Given the description of an element on the screen output the (x, y) to click on. 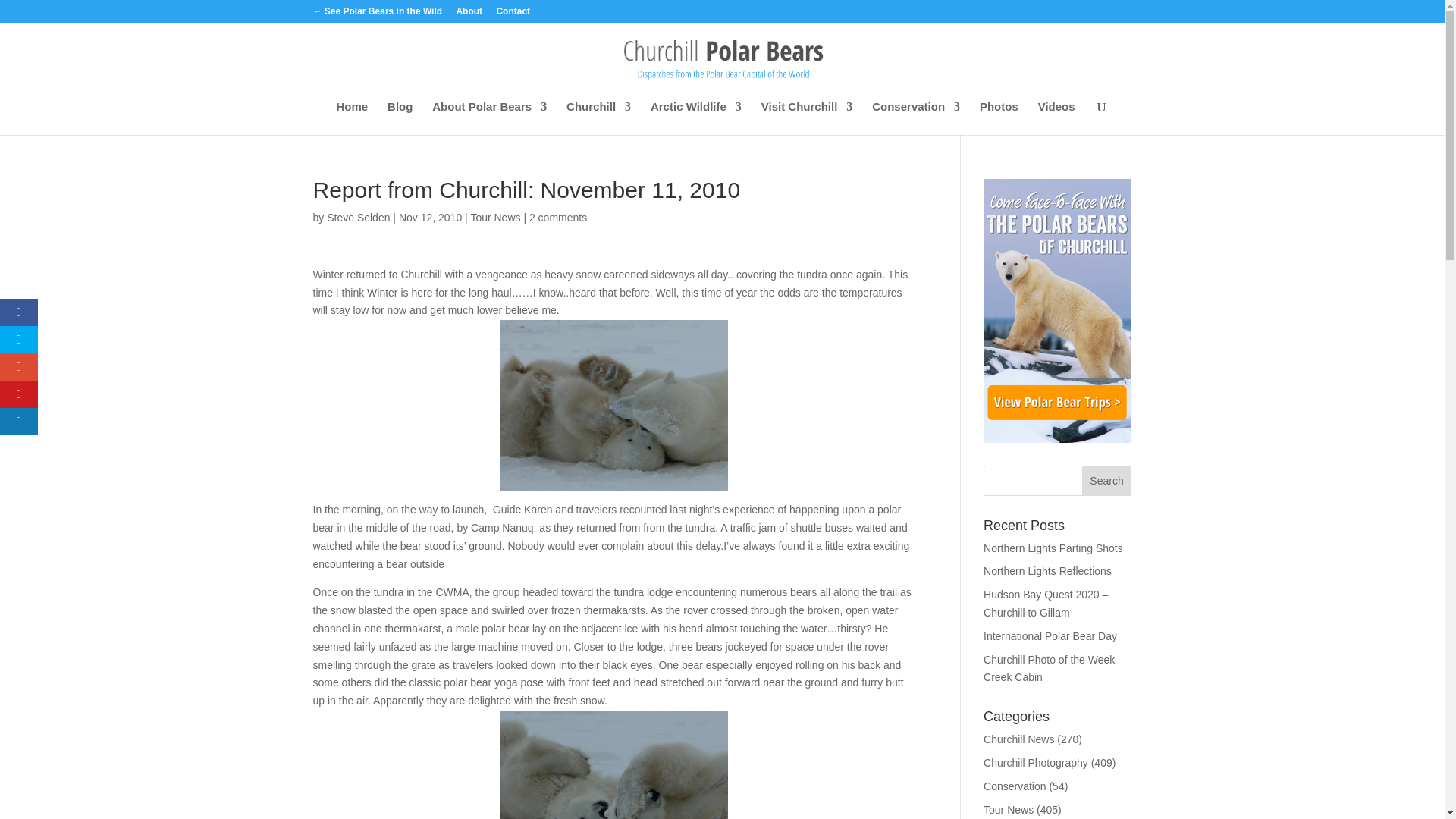
Churchill (598, 117)
Visit Churchill (807, 117)
churchill 5 049 (614, 405)
Arctic Wildlife (695, 117)
About Polar Bears (489, 117)
Search (1106, 481)
Posts by Steve Selden (358, 217)
churchill 5 054 (614, 764)
Home (352, 117)
Conservation (915, 117)
